Given the description of an element on the screen output the (x, y) to click on. 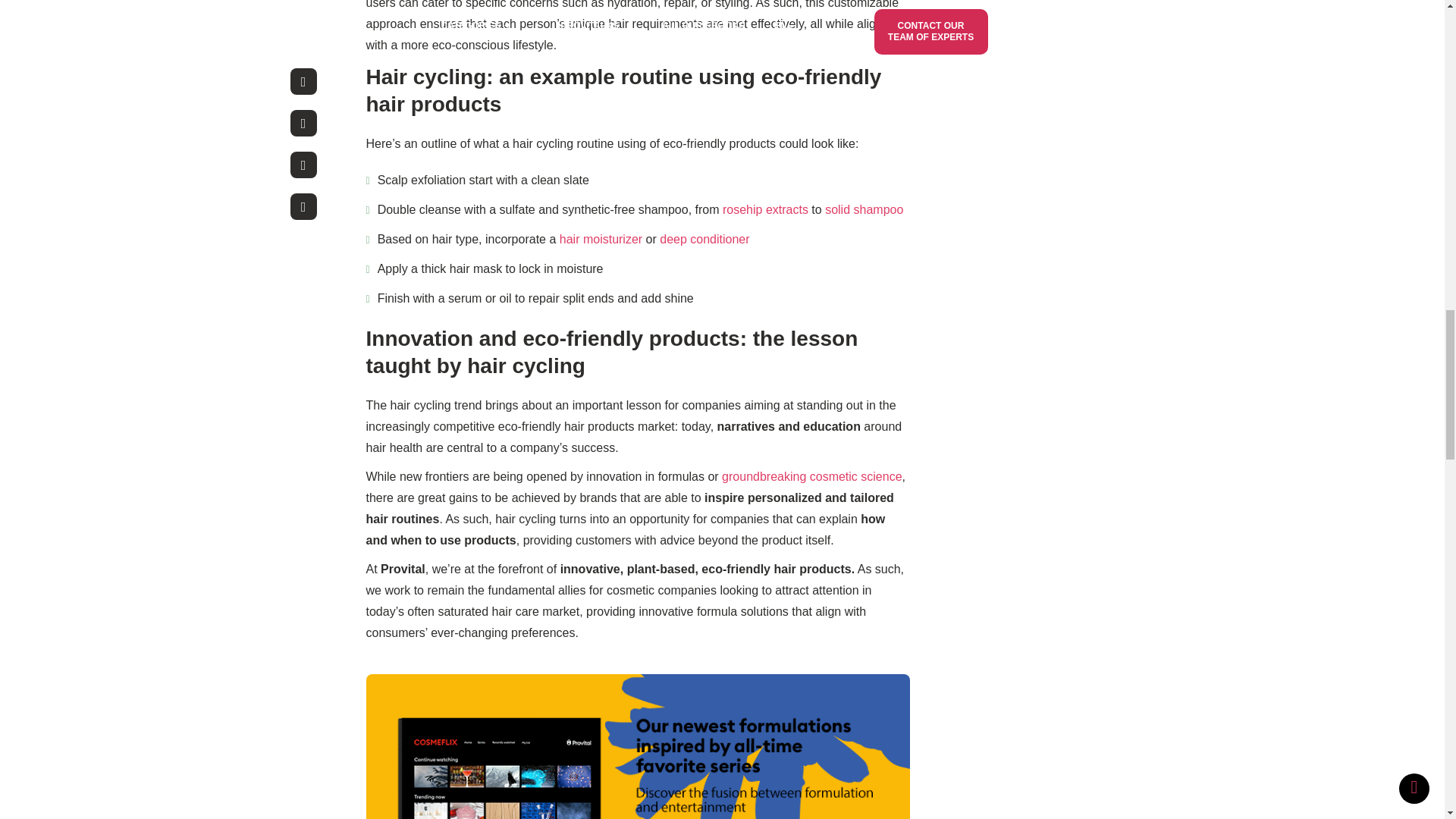
rosehip extracts (765, 209)
groundbreaking cosmetic science (810, 476)
deep conditioner  (705, 238)
solid shampoo (863, 209)
hair moisturizer (600, 238)
